Given the description of an element on the screen output the (x, y) to click on. 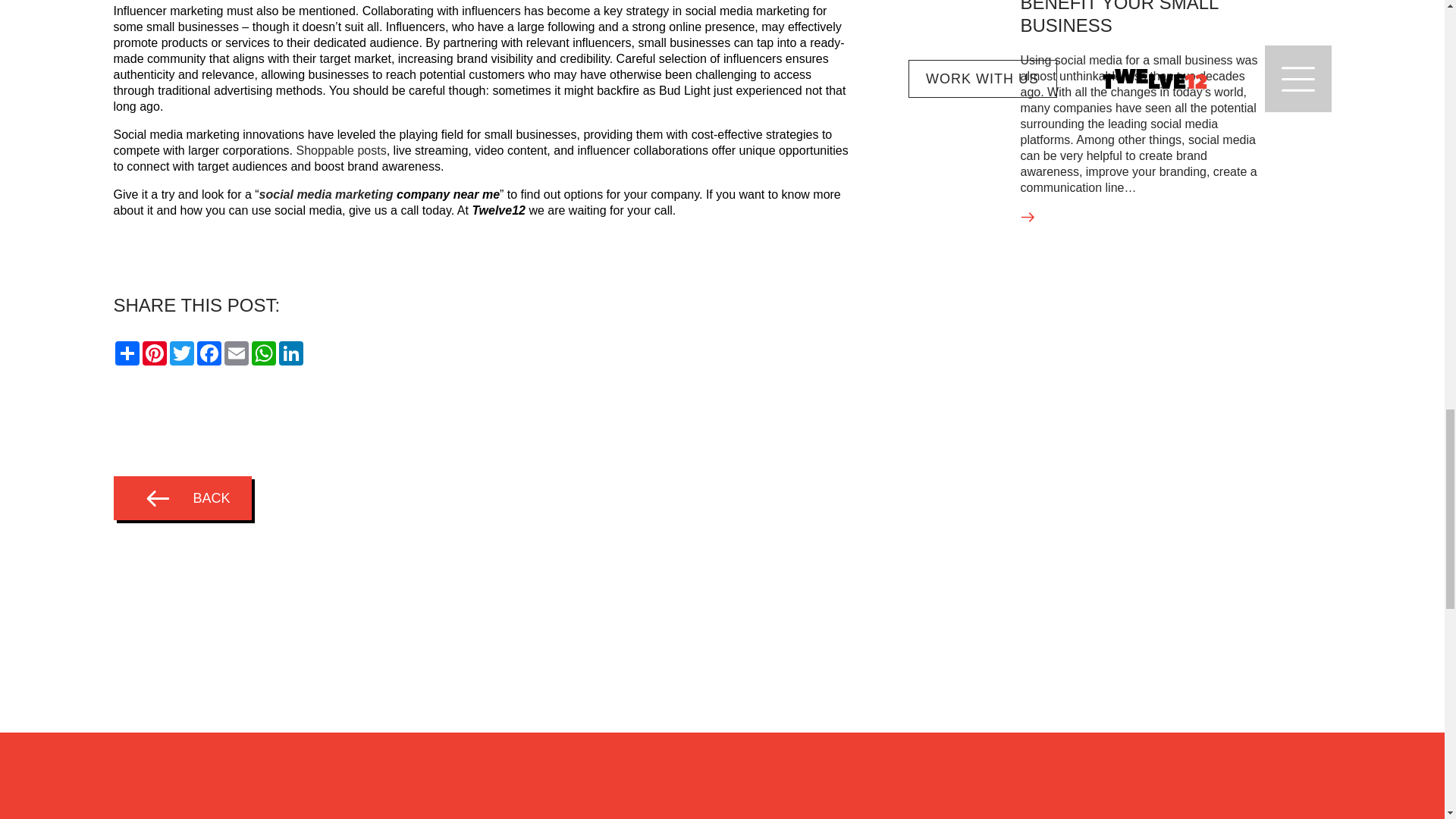
BACK (182, 497)
social media marketing (326, 194)
LinkedIn (291, 353)
WhatsApp (264, 353)
Pinterest (154, 353)
Shoppable posts (340, 150)
Twitter (181, 353)
Facebook (208, 353)
Email (236, 353)
